Given the description of an element on the screen output the (x, y) to click on. 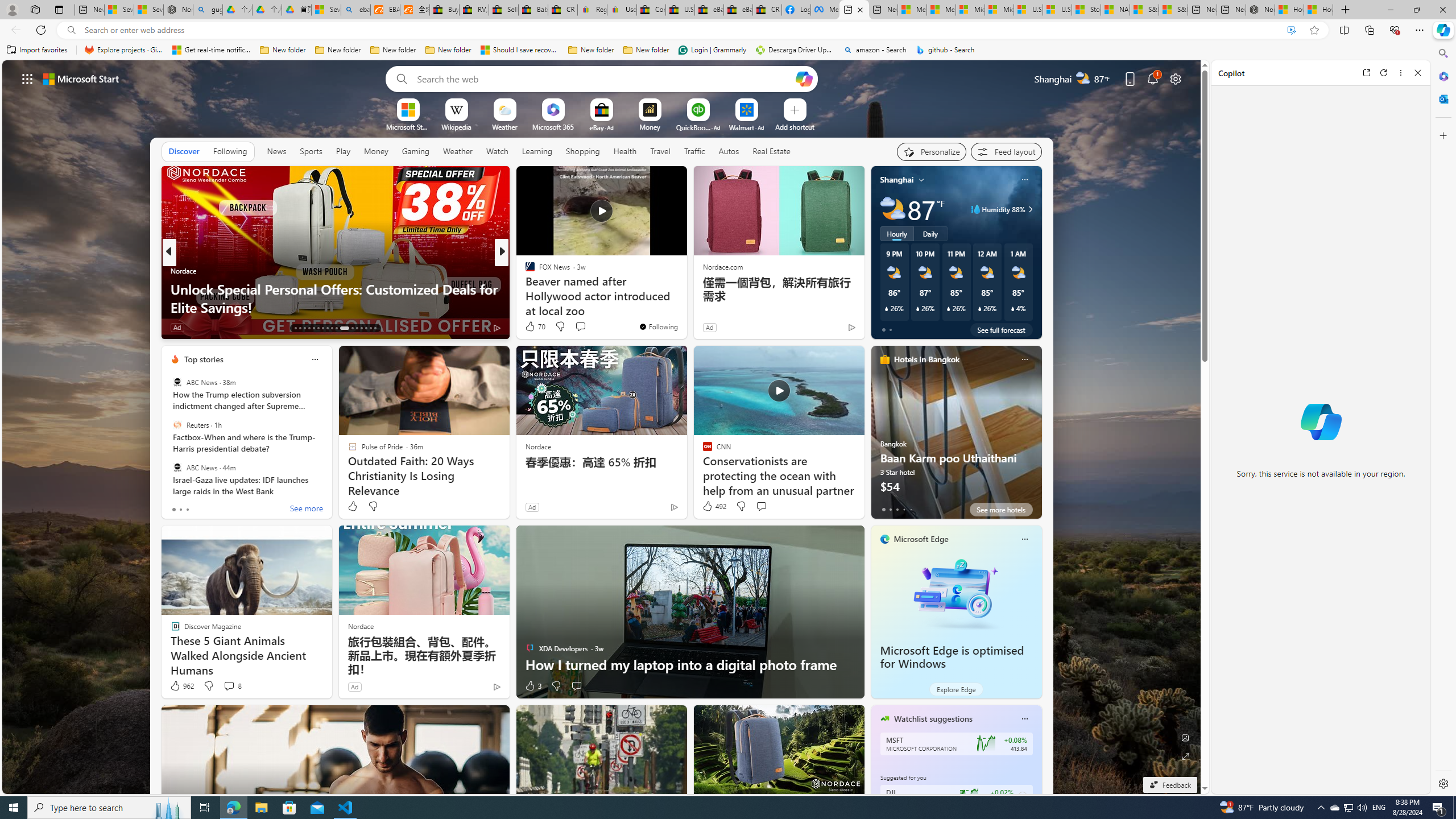
Money (376, 151)
Personalize your feed" (931, 151)
Search icon (70, 29)
Ad (354, 686)
Page settings (1175, 78)
AutomationID: tab-20 (327, 328)
Microsoft Edge is optimised for Windows (952, 657)
Log into Facebook (796, 9)
Watch (497, 151)
Following (229, 151)
AutomationID: tab-35 (374, 328)
SheBudgets (524, 288)
See full forecast (1000, 329)
